Given the description of an element on the screen output the (x, y) to click on. 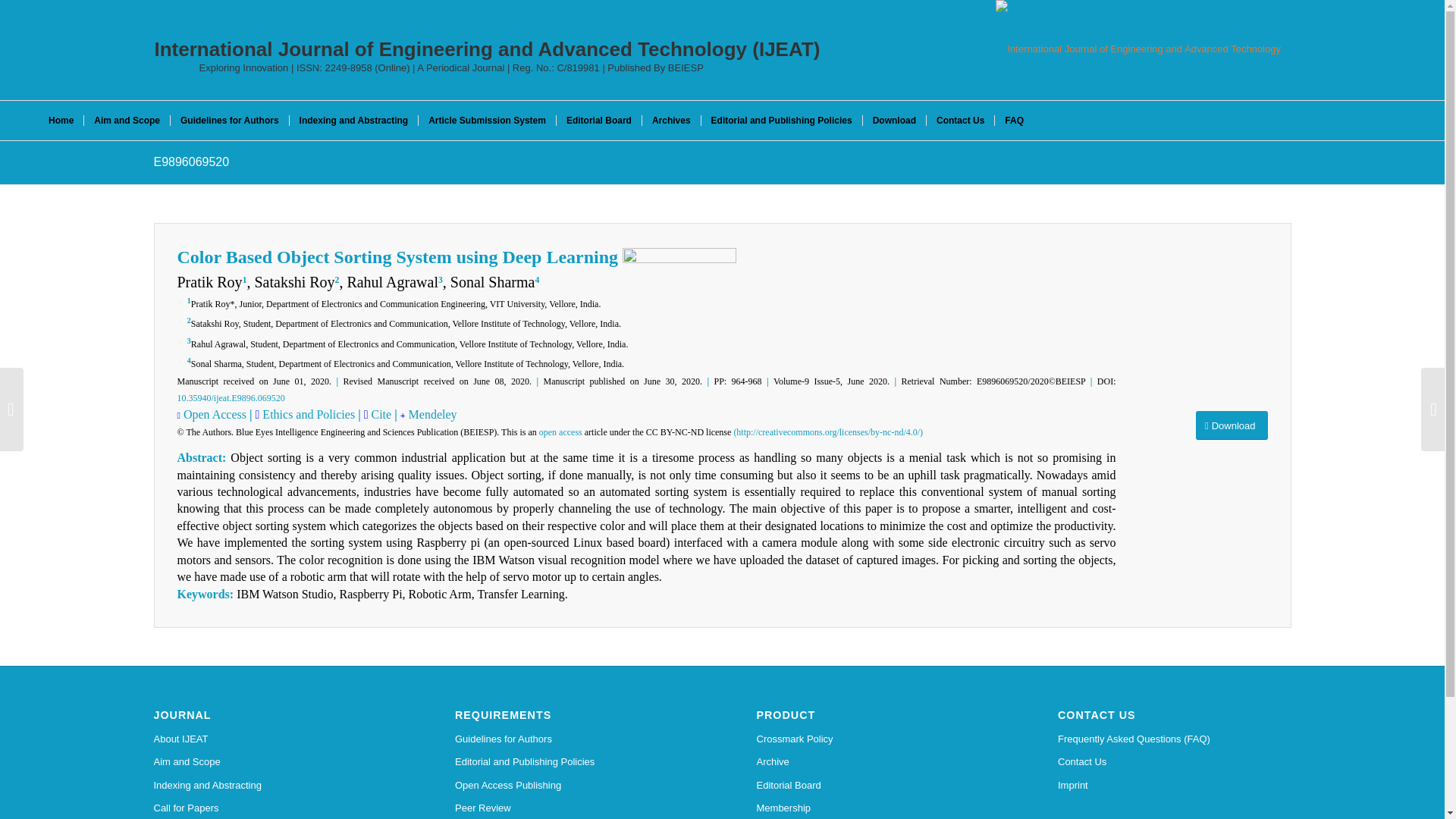
Guidelines for Authors (229, 120)
Peer Review (571, 807)
Download (1231, 425)
Open Access (214, 413)
Editorial Board (599, 120)
Contact Us (960, 120)
Aim and Scope (269, 762)
open access (560, 431)
Permanent Link: E9896069520 (190, 161)
Editorial and Publishing Policies (780, 120)
